Given the description of an element on the screen output the (x, y) to click on. 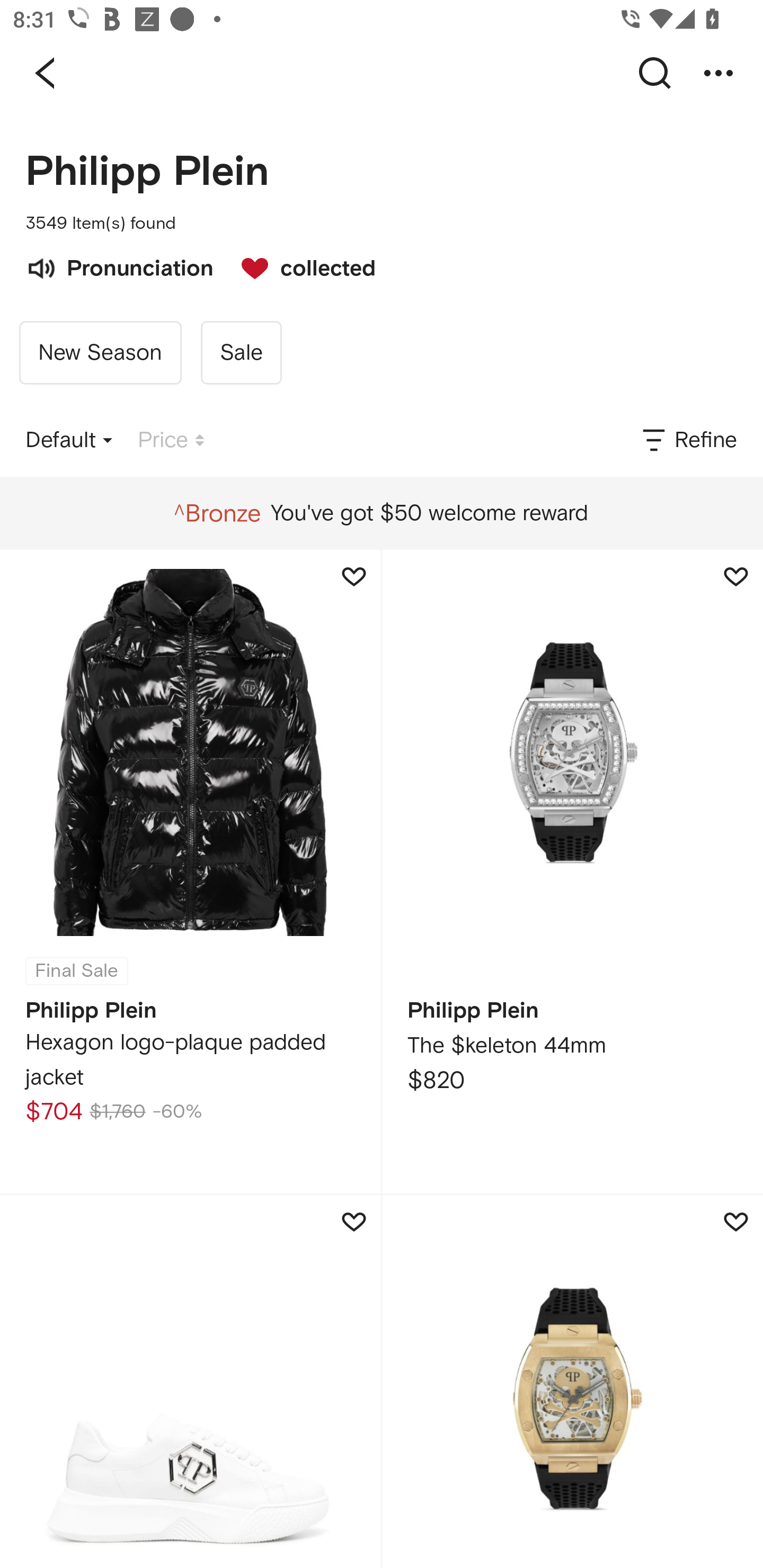
Pronunciation (119, 266)
collected (298, 266)
New Season (100, 352)
Sale (240, 352)
Default (68, 440)
Price (171, 440)
Refine (688, 440)
You've got $50 welcome reward (381, 513)
Philipp Plein The $keleton 44mm $820 (572, 871)
